Given the description of an element on the screen output the (x, y) to click on. 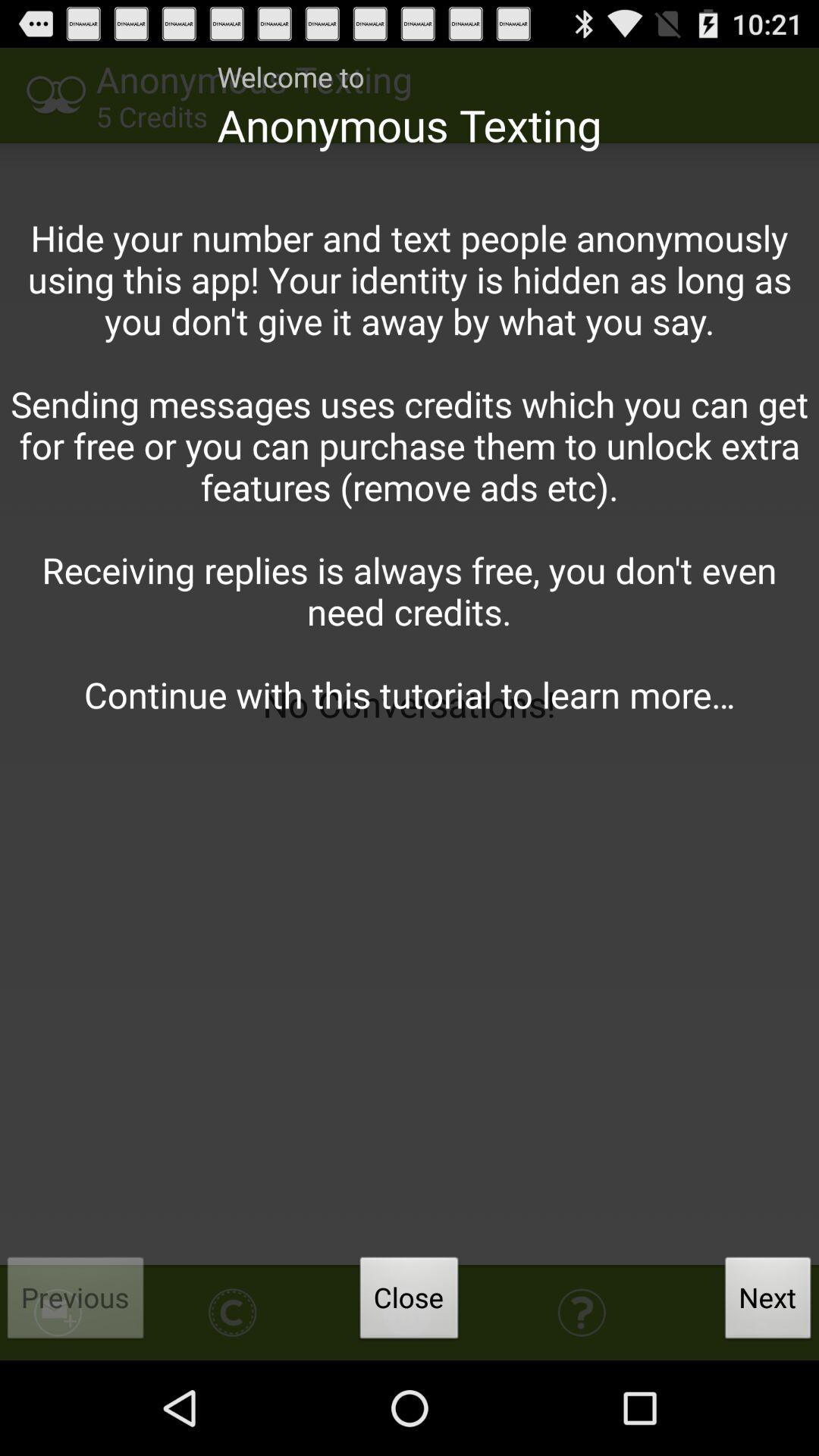
press app below hide your number icon (768, 1302)
